Given the description of an element on the screen output the (x, y) to click on. 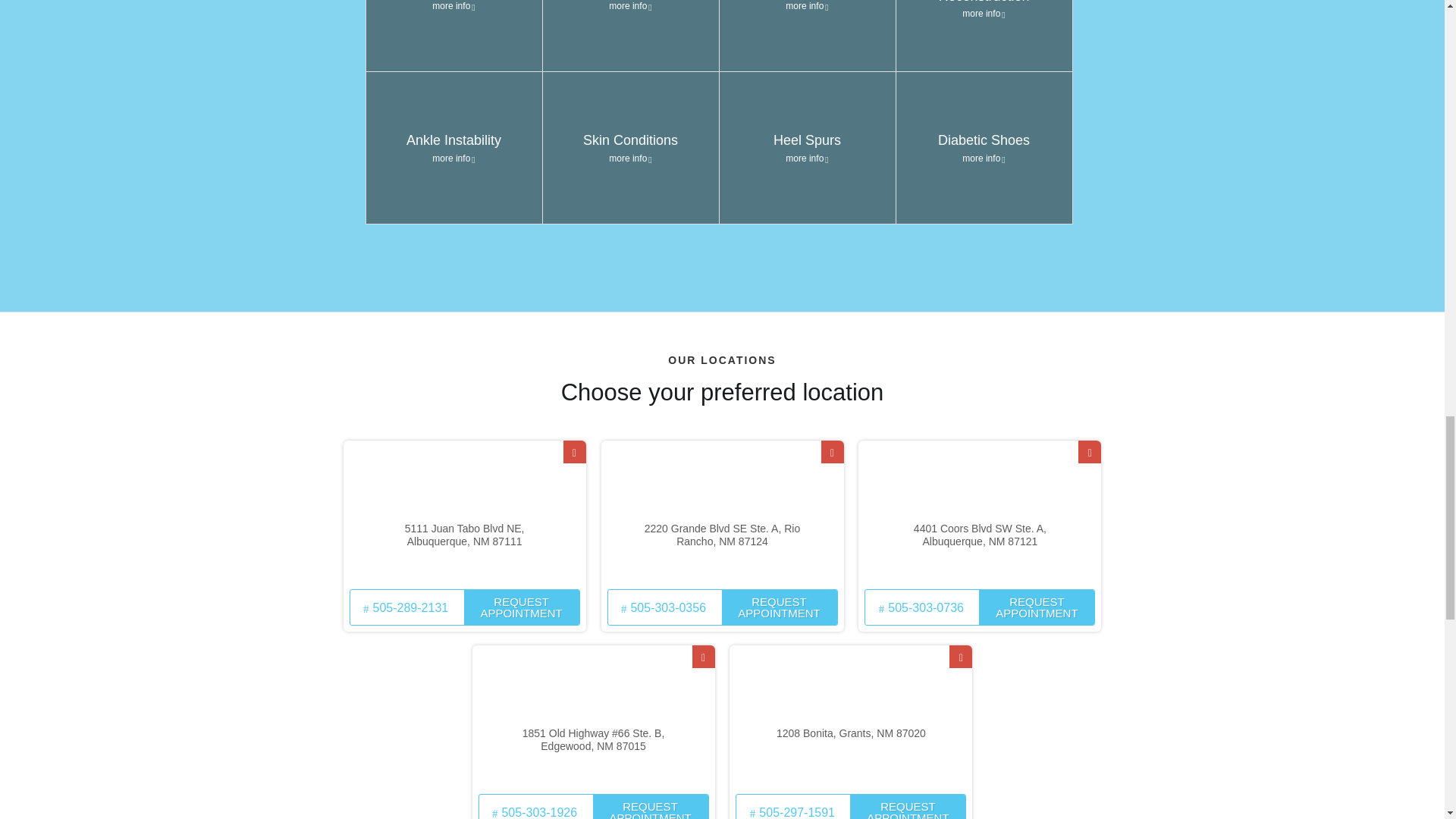
Map of Edgewood (592, 717)
Map of Rio Rancho (721, 512)
Map of Albuquerque (464, 512)
Map of South Valley (979, 512)
Map of Grants (850, 717)
